Given the description of an element on the screen output the (x, y) to click on. 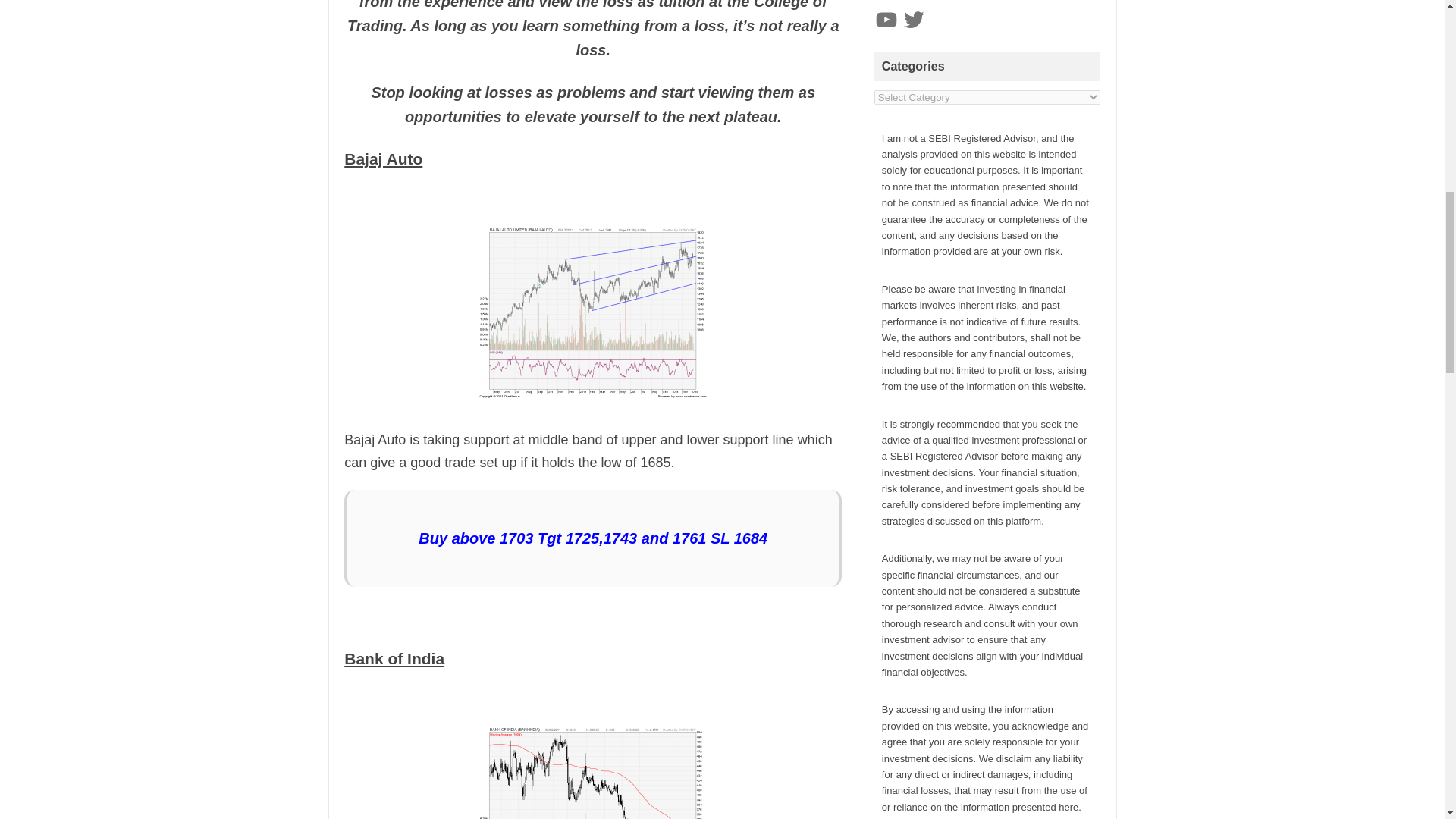
2011Dec-BAJAJ AUTO LIMITED-800x600 (592, 312)
2011Dec-BANK OF INDIA-800x600 (592, 773)
